Given the description of an element on the screen output the (x, y) to click on. 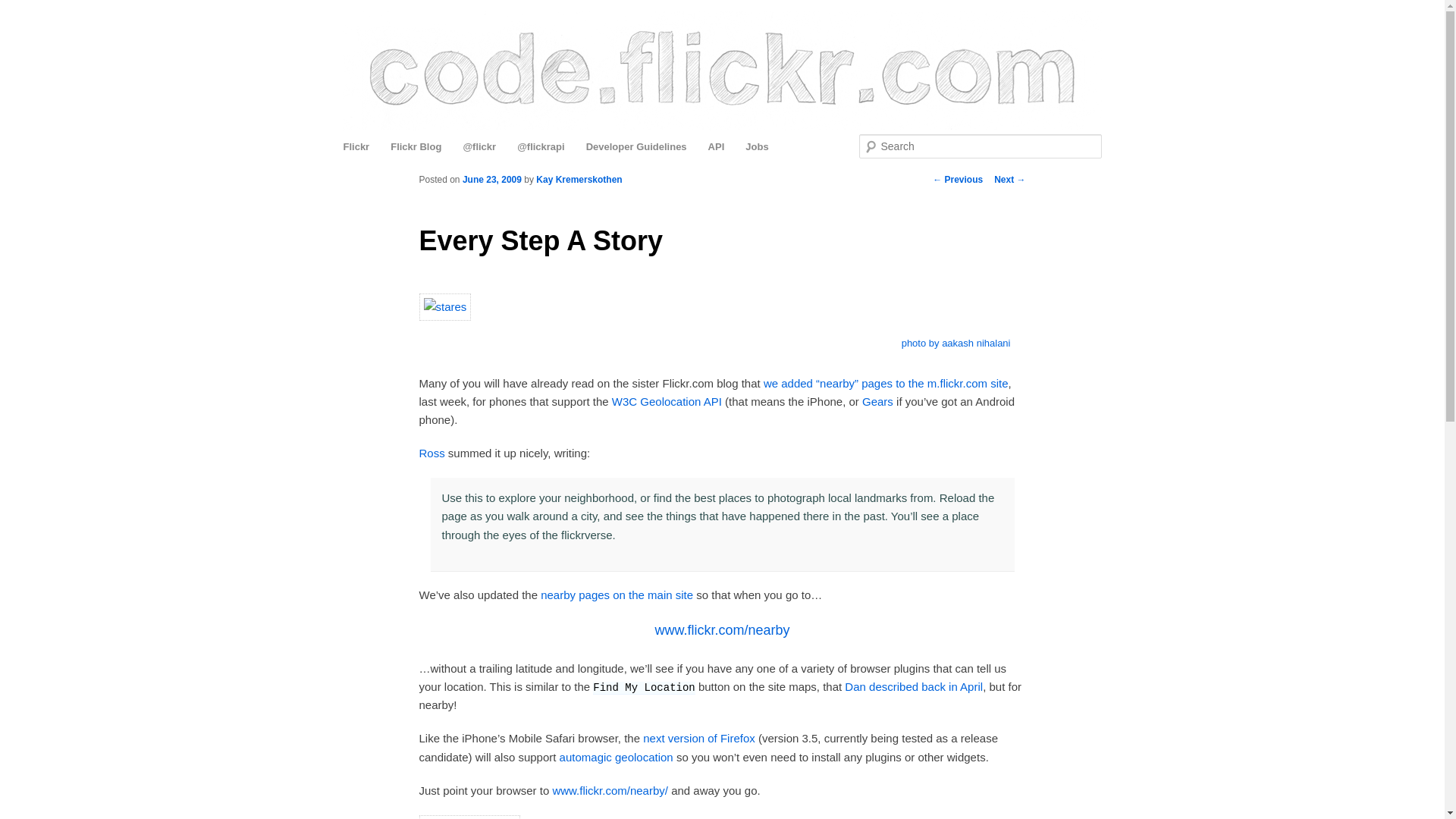
stares by aakash nihalani, on Flickr (444, 306)
Search (24, 8)
automagic geolocation (615, 757)
12:59 am (492, 179)
June 23, 2009 (492, 179)
Jobs (756, 146)
Dan described back in April (913, 686)
API (716, 146)
Developer Guidelines (636, 146)
Kay Kremerskothen (578, 179)
Flickr (355, 146)
W3C Geolocation API (666, 400)
nearby pages on the main site (616, 594)
next version of Firefox (699, 738)
